Given the description of an element on the screen output the (x, y) to click on. 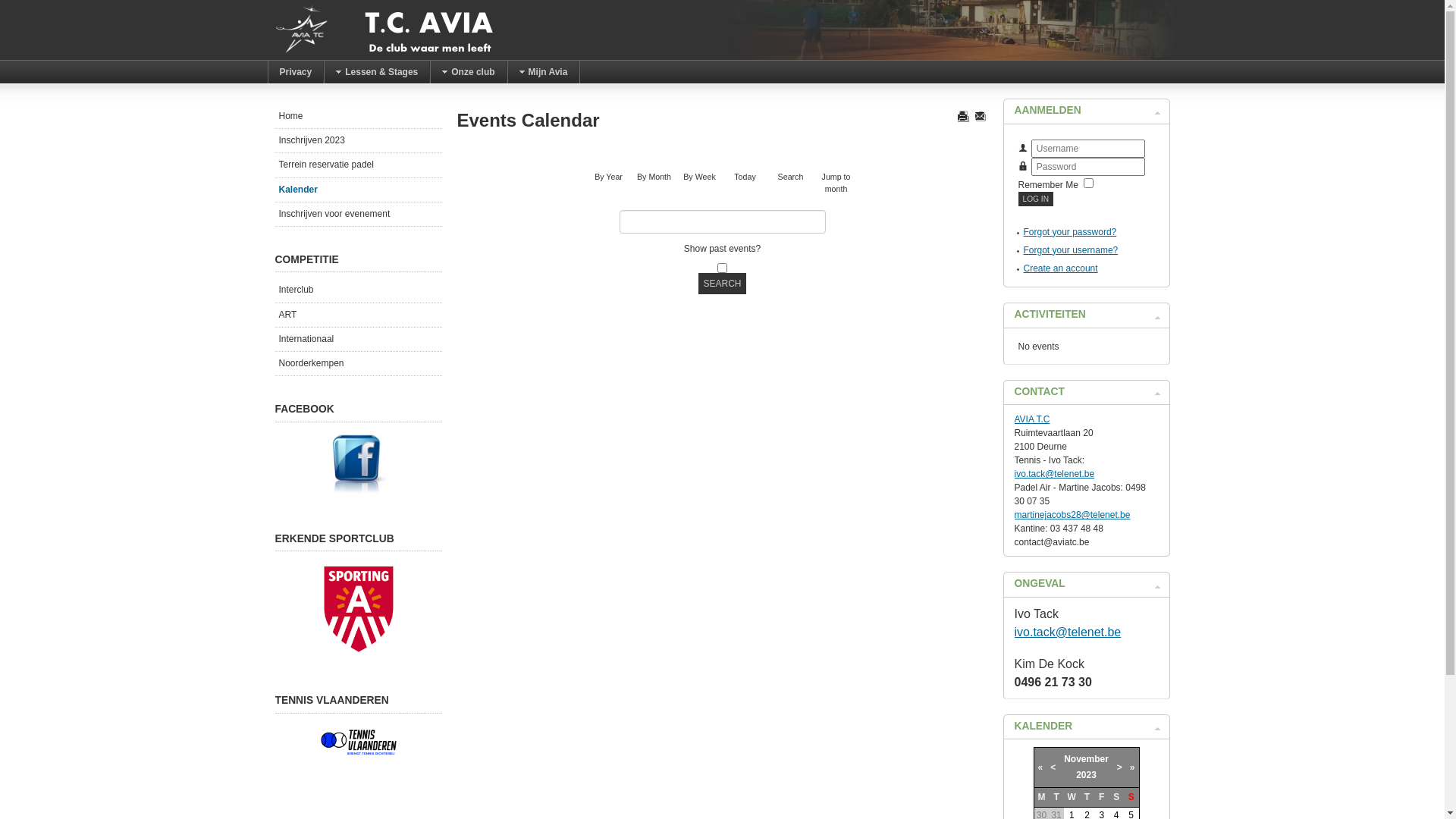
Kalender Element type: text (357, 190)
Create an account Element type: text (1060, 268)
AVIA T.C Element type: text (1032, 419)
AVIA T.C. Element type: hover (380, 30)
Password Element type: hover (1022, 165)
Username Element type: hover (1022, 147)
Today Element type: hover (745, 153)
Print Element type: hover (963, 115)
By Week Element type: hover (699, 153)
Log in Element type: text (1035, 198)
Search Element type: text (721, 283)
ivo.tack@telenet.be Element type: text (1054, 473)
2023 Element type: text (1086, 774)
Forgot your username? Element type: text (1070, 249)
Home Element type: text (357, 116)
martinejacobs28@telenet.be Element type: text (1072, 514)
Noorderkempen Element type: text (357, 363)
Mijn Avia Element type: text (543, 71)
Inschrijven voor evenement Element type: text (357, 214)
By Year Element type: hover (608, 153)
Privacy Element type: text (294, 71)
Search Element type: hover (790, 153)
Forgot your password? Element type: text (1070, 231)
Inschrijven 2023 Element type: text (357, 140)
ART Element type: text (357, 315)
Onze club Element type: text (467, 71)
November Element type: text (1085, 758)
Interclub Element type: text (357, 290)
EMAIL Element type: hover (979, 115)
Terrein reservatie padel Element type: text (357, 165)
ivo.tack@telenet.be Element type: text (1067, 631)
Internationaal Element type: text (357, 339)
Jump to month Element type: hover (836, 153)
Lessen & Stages Element type: text (376, 71)
By Month Element type: hover (654, 153)
